Given the description of an element on the screen output the (x, y) to click on. 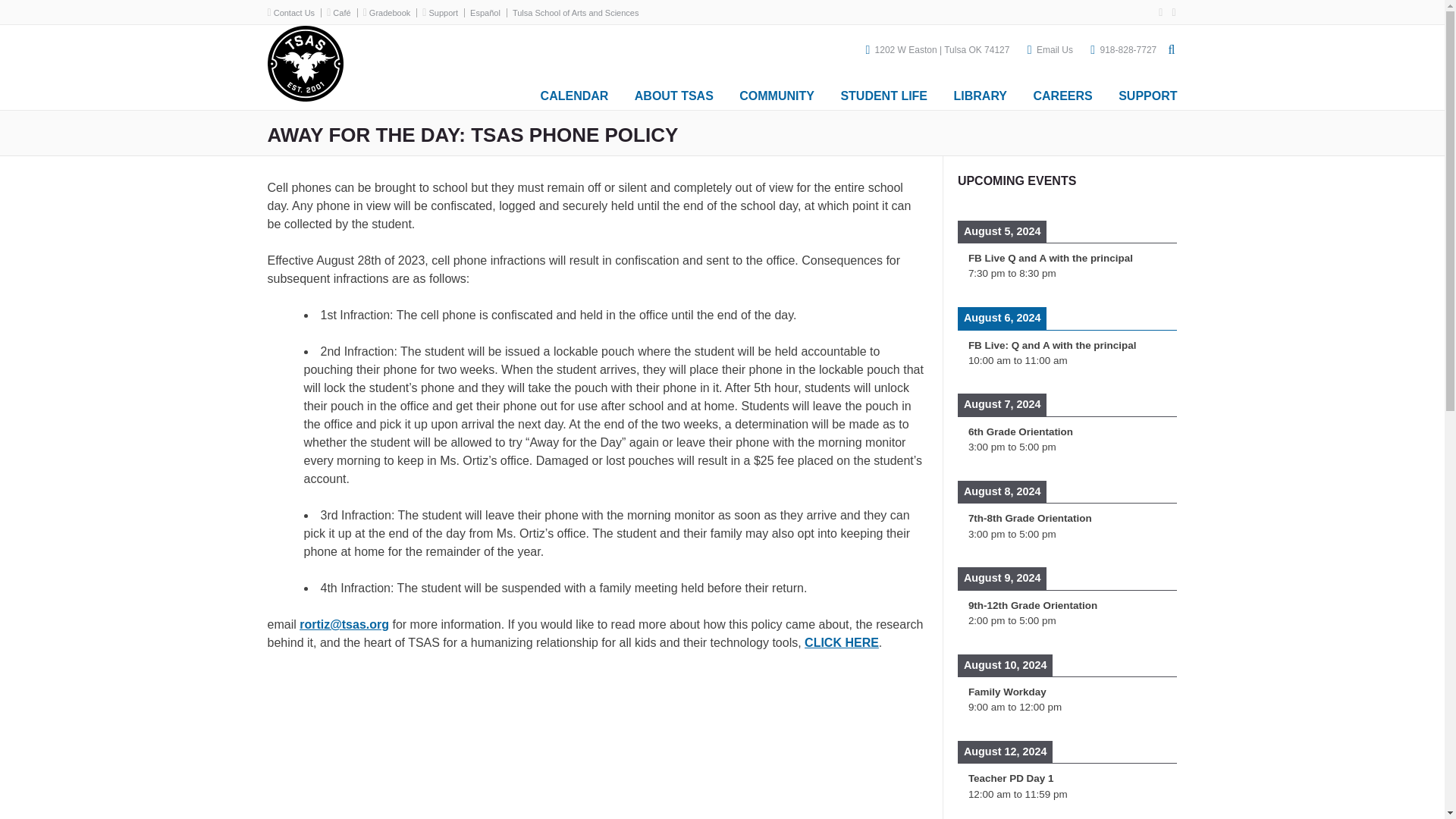
Support (443, 12)
ABOUT TSAS (674, 89)
CALENDAR (574, 89)
Spanish (488, 12)
Tulsa School of Arts and Sciences (304, 97)
STUDENT LIFE (883, 89)
Follow Us on Twitter (1169, 12)
COMMUNITY (776, 89)
Find Us on Facebook (1157, 12)
Email Us (1054, 50)
Search for: (1015, 85)
Contact Us (293, 12)
Gradebook (389, 12)
